Given the description of an element on the screen output the (x, y) to click on. 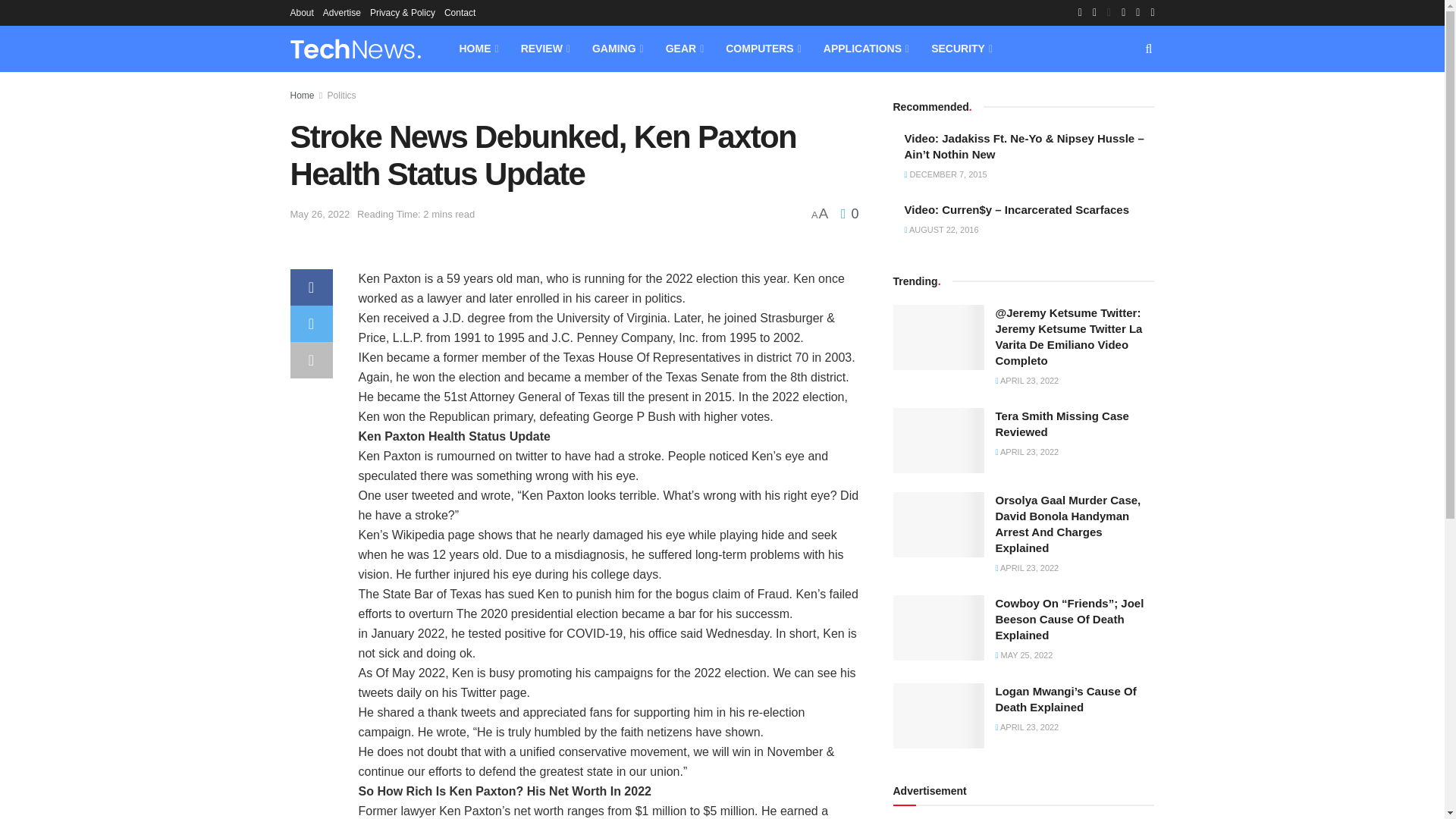
GAMING (616, 48)
Advertise (342, 12)
About (301, 12)
REVIEW (543, 48)
HOME (477, 48)
Contact (460, 12)
GEAR (683, 48)
